Given the description of an element on the screen output the (x, y) to click on. 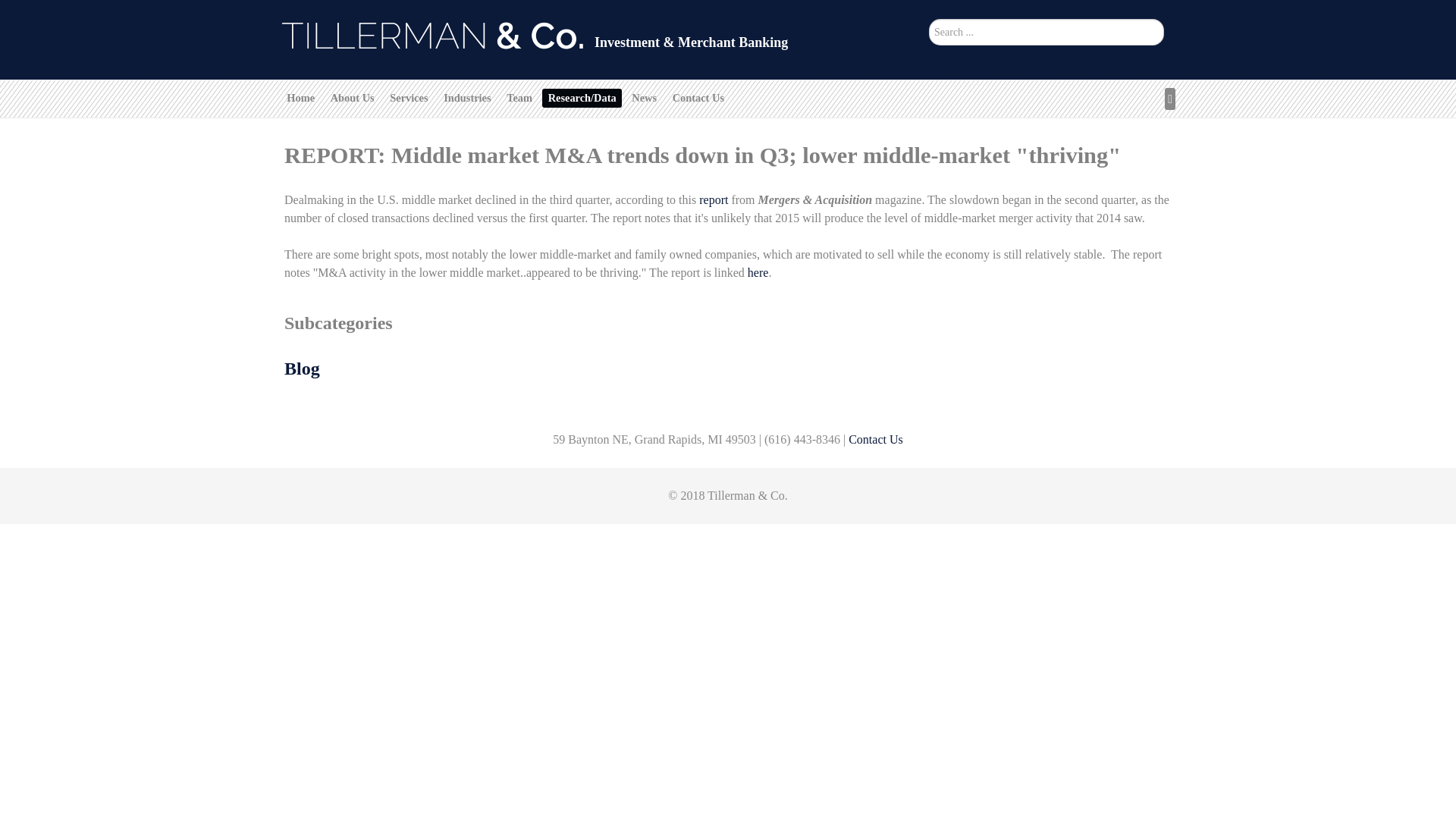
News (644, 97)
Home (300, 97)
Team (519, 97)
Blog (301, 368)
Industries (467, 97)
here (758, 272)
About Us (352, 97)
Services (408, 97)
Contact Us (697, 97)
report (713, 199)
